Given the description of an element on the screen output the (x, y) to click on. 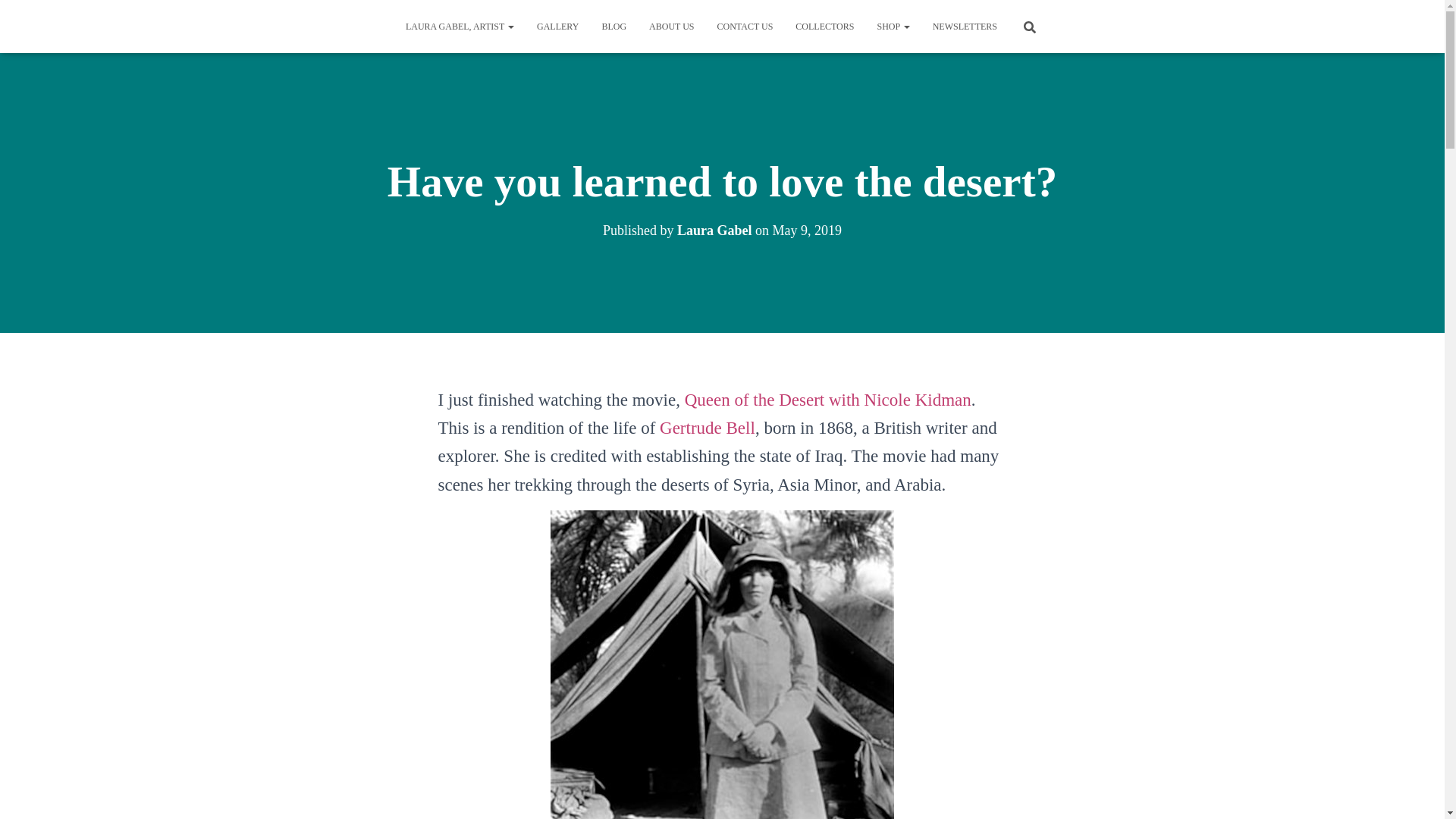
LAURA GABEL, ARTIST (459, 26)
ABOUT US (670, 26)
Blog (613, 26)
Newsletters (965, 26)
Queen of the Desert with Nicole Kidman (827, 399)
Search (16, 16)
BLOG (613, 26)
COLLECTORS (824, 26)
NEWSLETTERS (965, 26)
CONTACT US (745, 26)
